Given the description of an element on the screen output the (x, y) to click on. 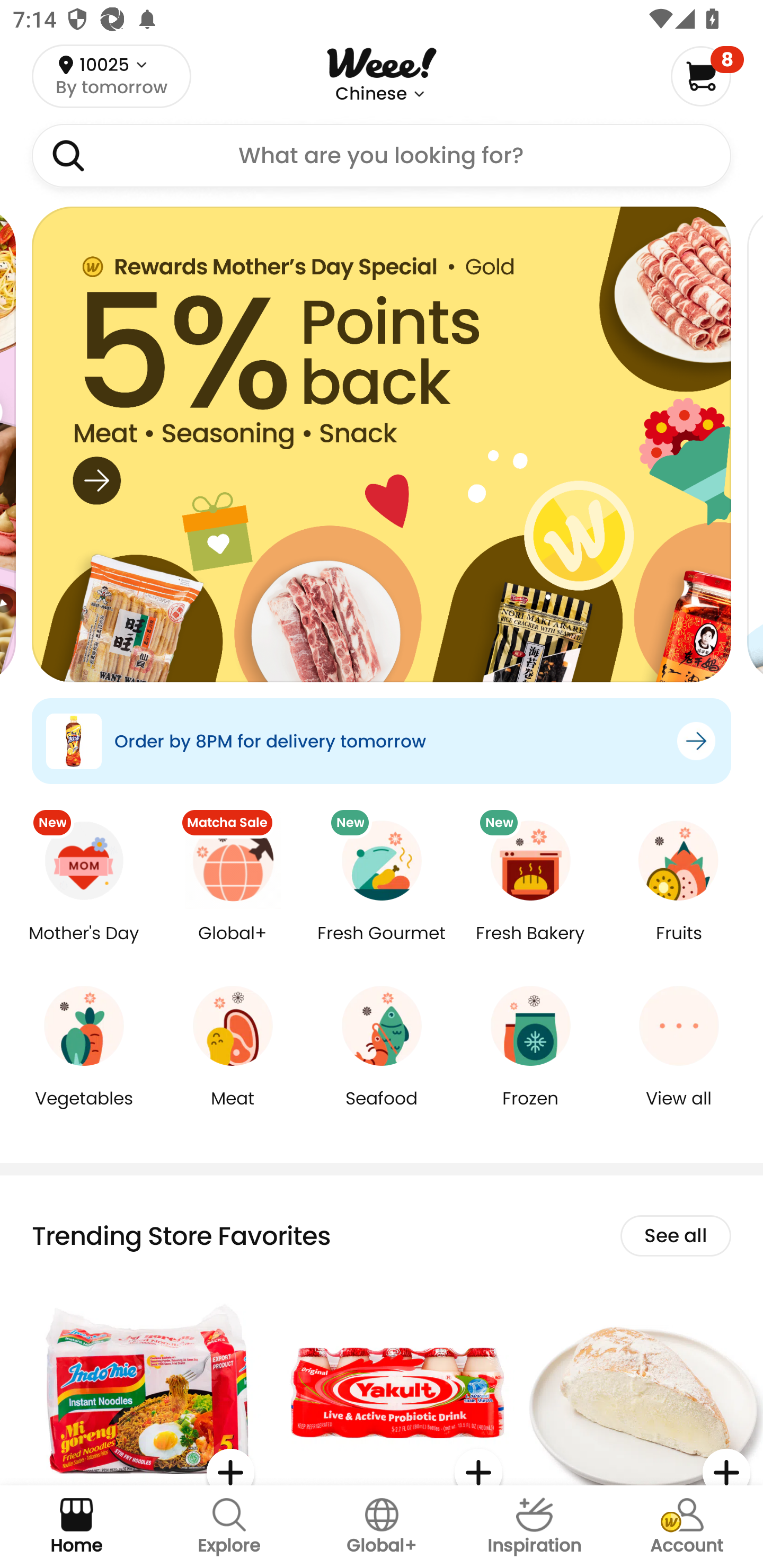
10025 By tomorrow (111, 75)
8 (706, 75)
Chinese (370, 93)
What are you looking for? (381, 155)
Order by 8PM for delivery tomorrow (381, 740)
Mother's Day (83, 946)
Global+ (232, 946)
Fresh Gourmet (381, 946)
Fresh Bakery (530, 946)
Fruits (678, 946)
Vegetables (83, 1111)
Meat (232, 1111)
Seafood (381, 1111)
Frozen (530, 1111)
View all (678, 1111)
Home (76, 1526)
Explore (228, 1526)
Global+ (381, 1526)
Inspiration (533, 1526)
Account (686, 1526)
